Given the description of an element on the screen output the (x, y) to click on. 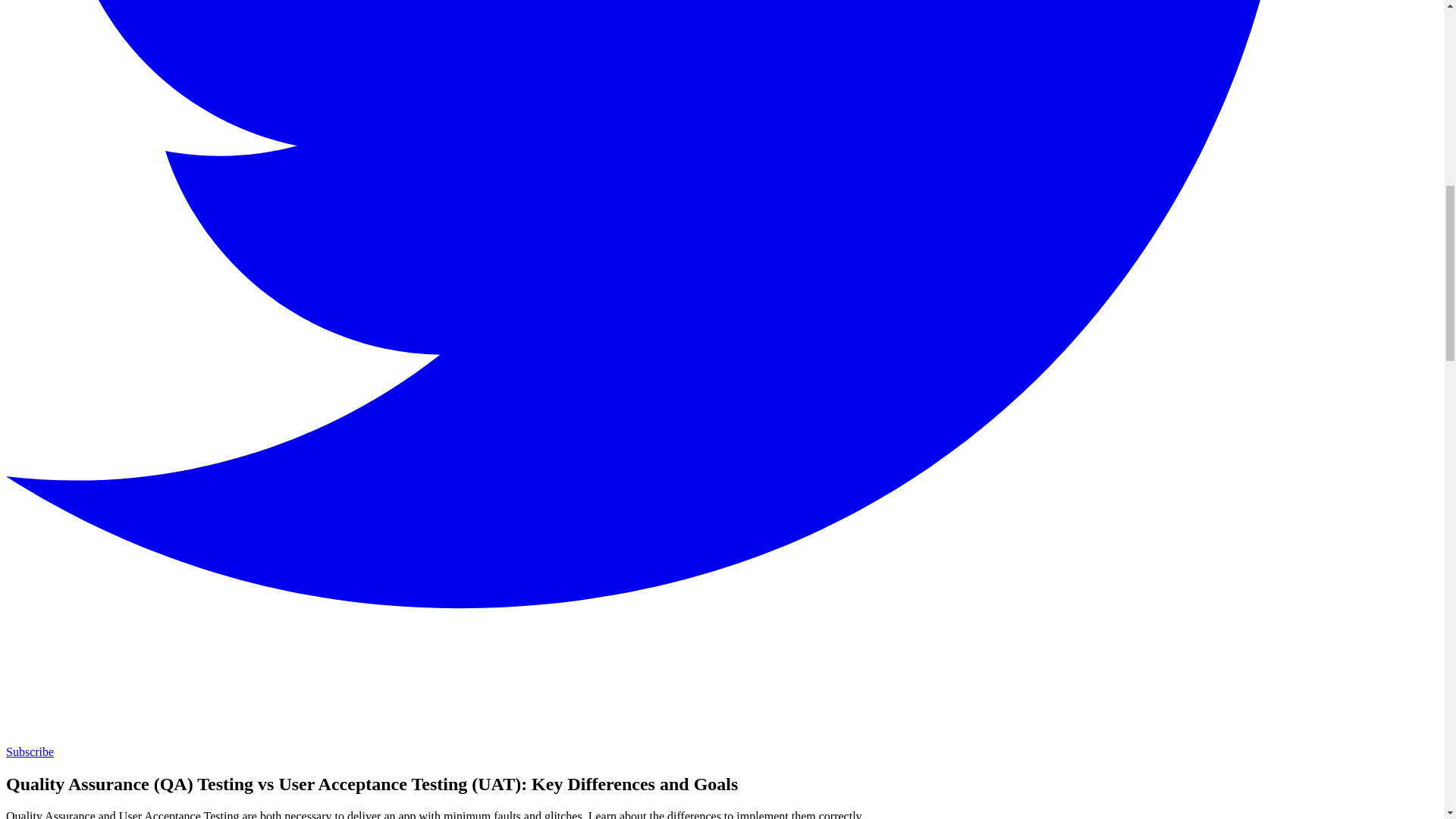
Subscribe (29, 751)
